Given the description of an element on the screen output the (x, y) to click on. 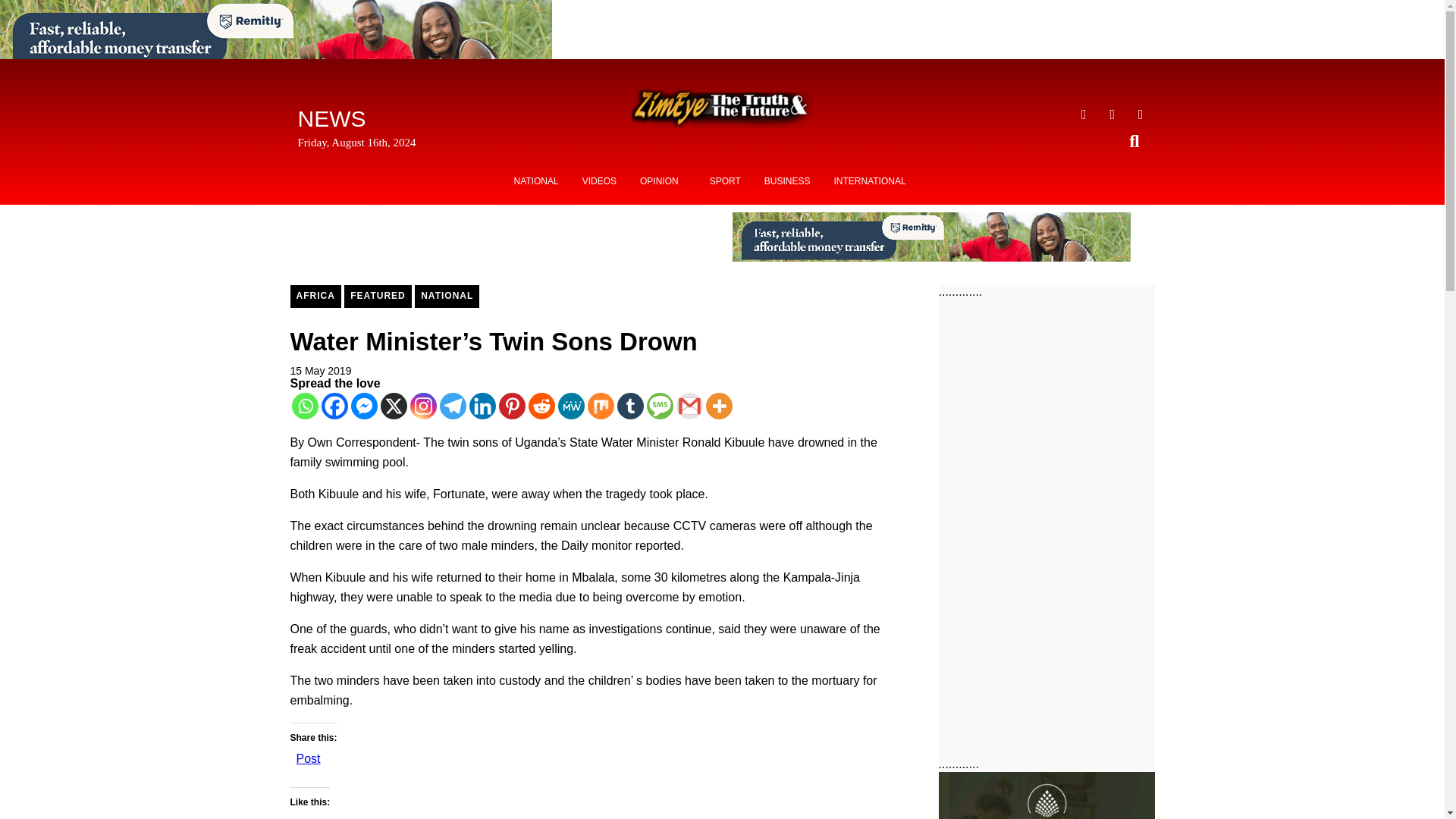
MeWe (571, 406)
Facebook Messenger (363, 406)
Mix (599, 406)
Pinterest (512, 406)
VIDEOS (598, 181)
FEATURED (376, 296)
Telegram (452, 406)
Reddit (540, 406)
NATIONAL (536, 181)
SPORT (725, 181)
